Given the description of an element on the screen output the (x, y) to click on. 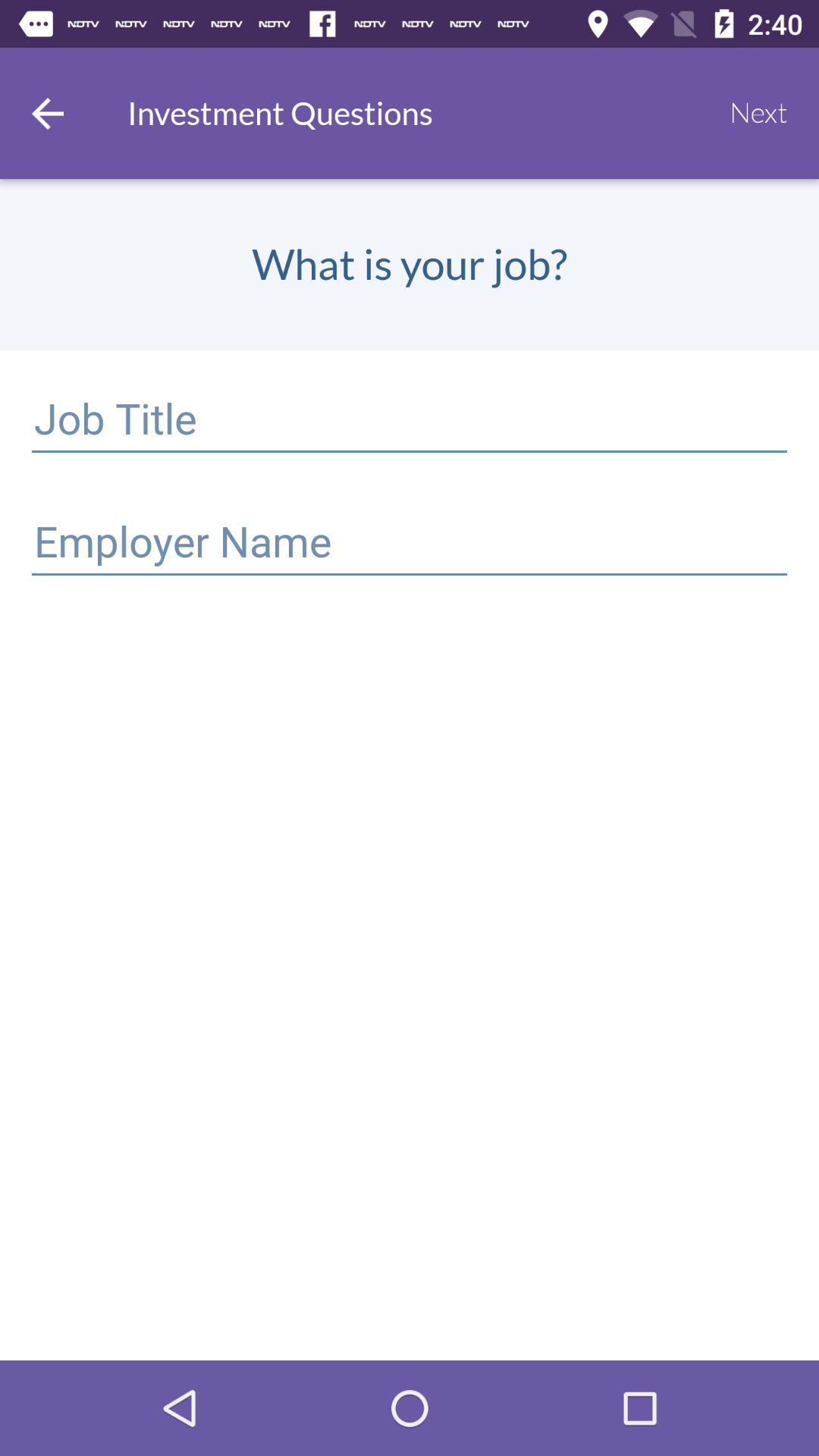
launch the item next to investment questions item (47, 113)
